Given the description of an element on the screen output the (x, y) to click on. 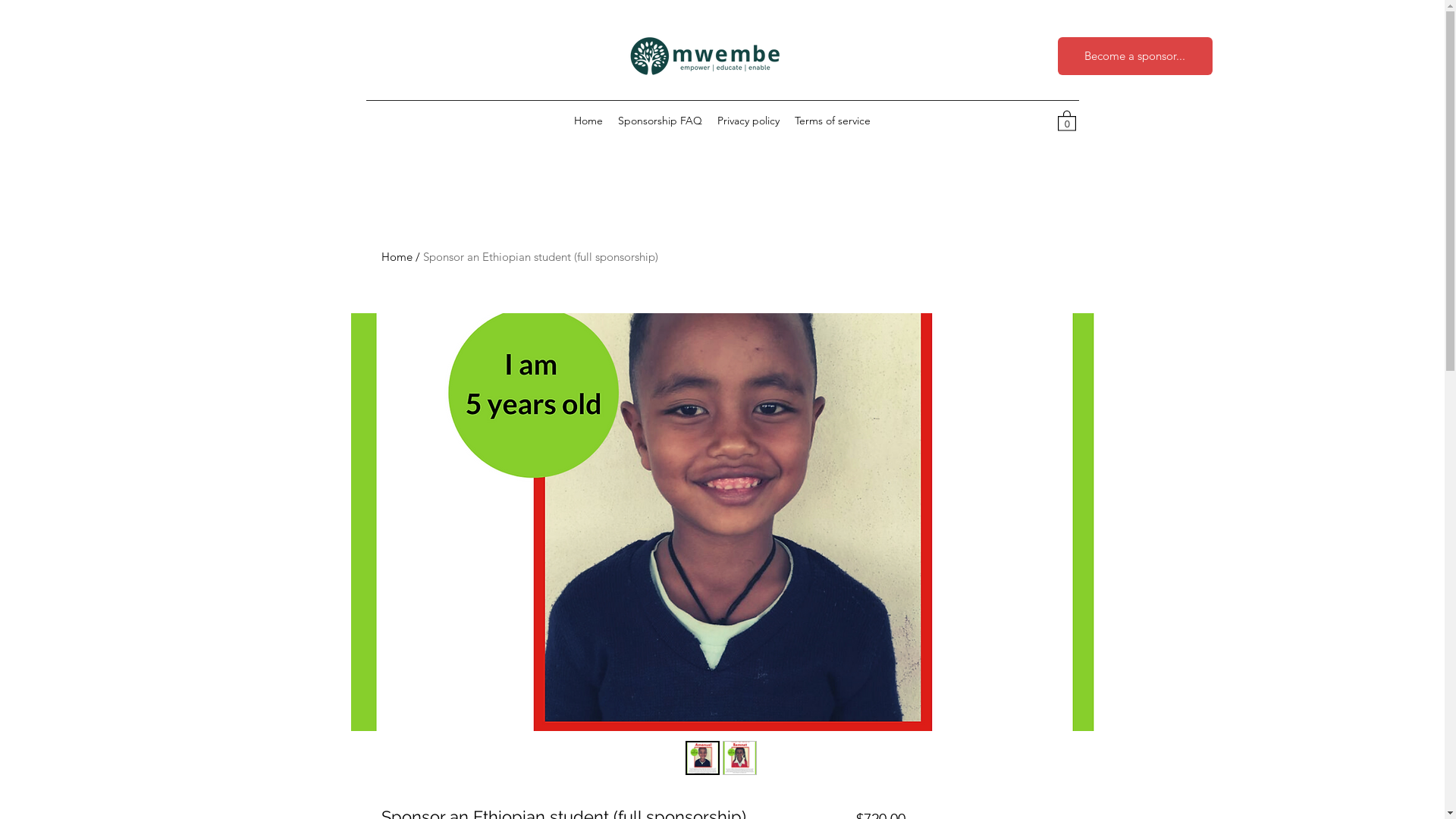
Terms of service Element type: text (832, 120)
Sponsor an Ethiopian student (full sponsorship) Element type: text (540, 256)
Privacy policy Element type: text (748, 120)
Become a sponsor... Element type: text (1134, 56)
Sponsorship FAQ Element type: text (659, 120)
Home Element type: text (588, 120)
0 Element type: text (1066, 120)
Home Element type: text (395, 256)
